Given the description of an element on the screen output the (x, y) to click on. 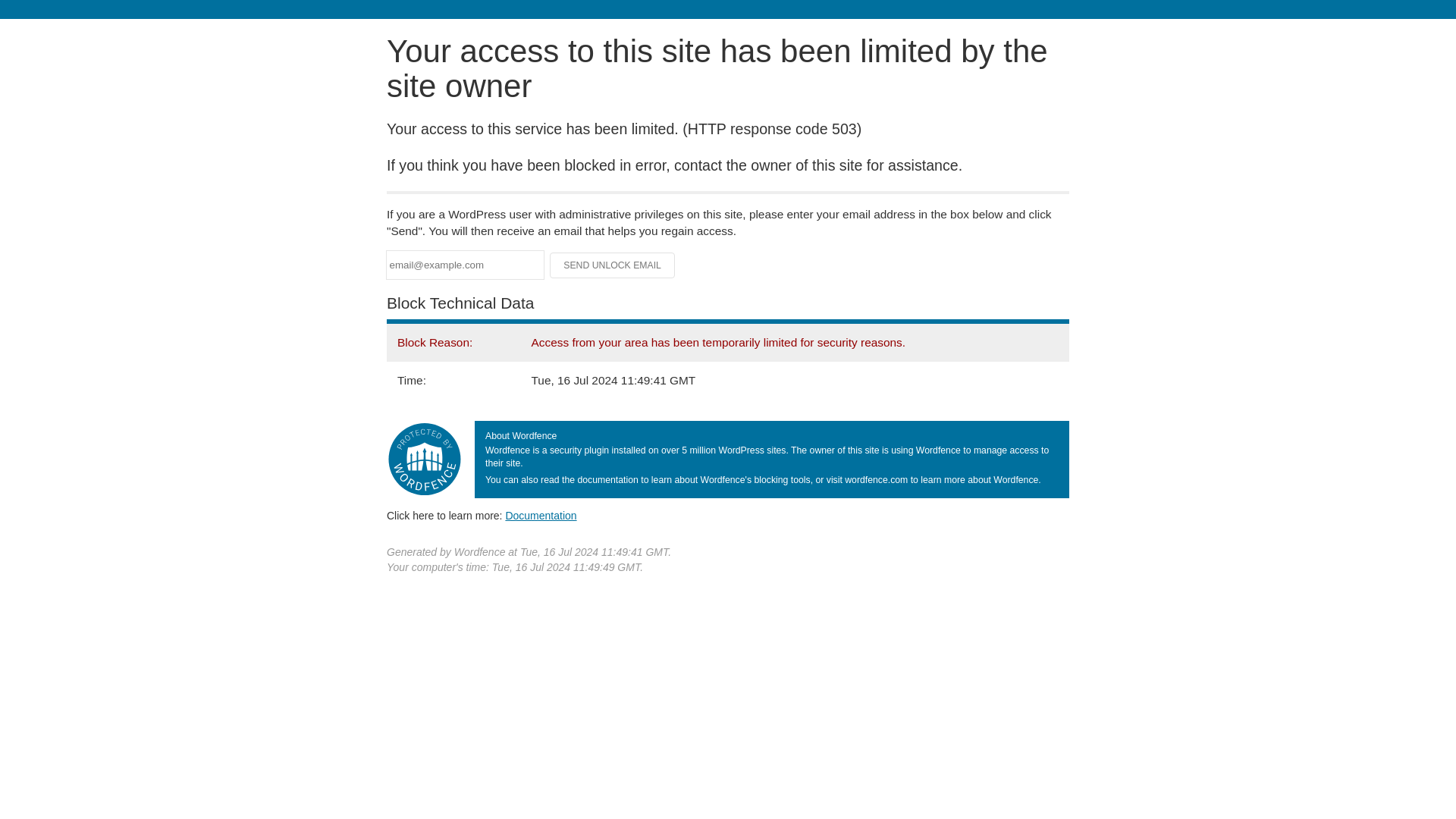
Send Unlock Email (612, 265)
Send Unlock Email (612, 265)
Documentation (540, 515)
